Given the description of an element on the screen output the (x, y) to click on. 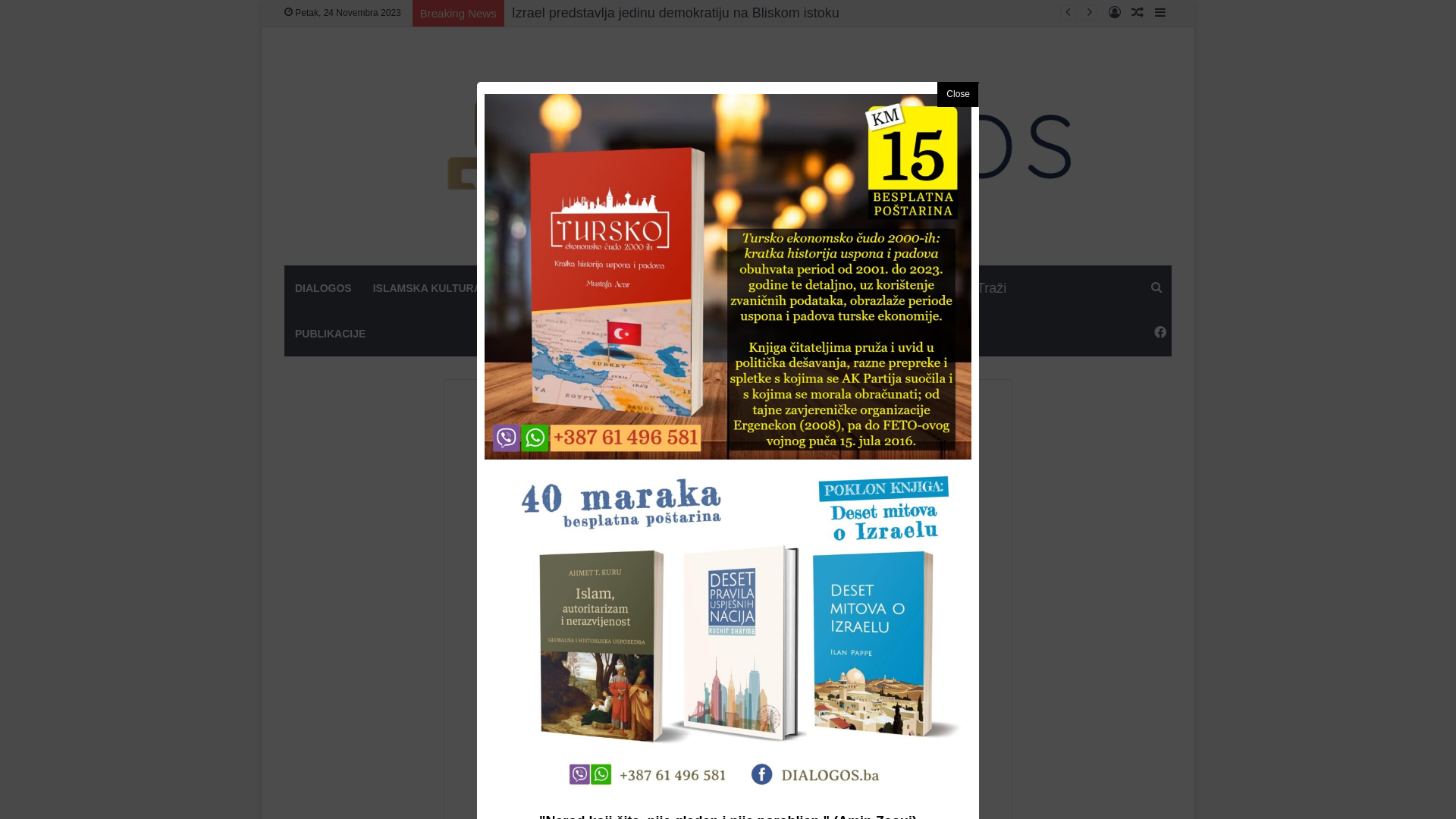
Izrael predstavlja jedinu demokratiju na Bliskom istoku Element type: text (675, 12)
ISLAMSKA KULTURA I CIVILIZACIJA Element type: text (465, 287)
PUBLIKACIJE Element type: text (671, 410)
KAPITALIZAM Element type: text (685, 287)
DIALOGOS Element type: text (323, 287)
DIALOGOS.ba Element type: hover (727, 146)
PUBLIKACIJE Element type: text (330, 333)
Facebook Element type: text (1159, 333)
Uloguj se Element type: text (1114, 13)
INTERVJUI Element type: text (769, 287)
Sidebar Element type: text (1159, 13)
KONTAKT Element type: text (844, 287)
MAGAZIN Element type: text (603, 287)
